Given the description of an element on the screen output the (x, y) to click on. 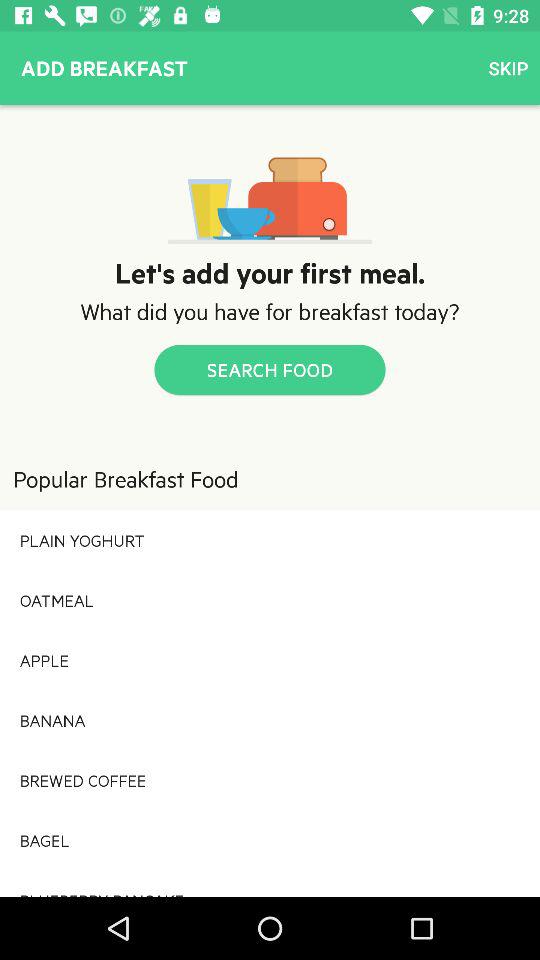
select search food item (269, 369)
